Given the description of an element on the screen output the (x, y) to click on. 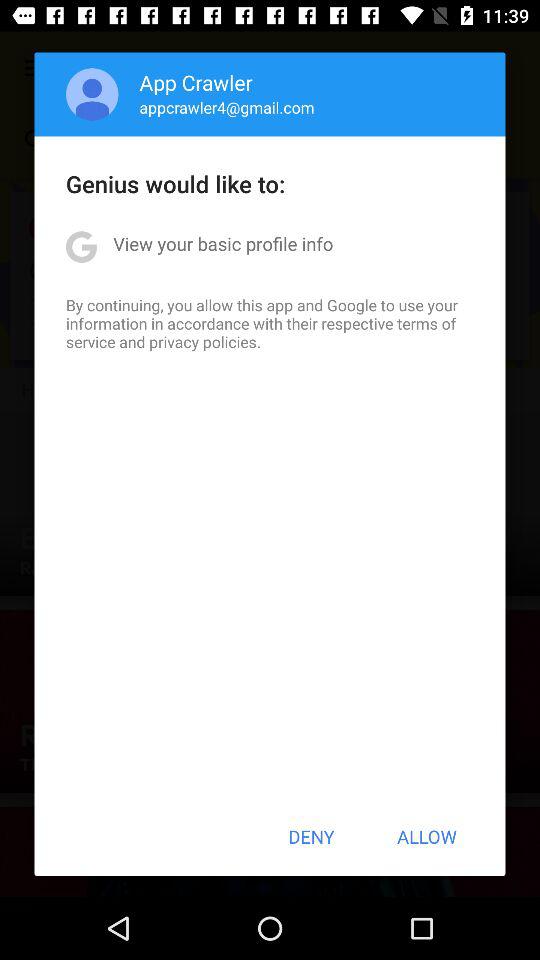
flip to the appcrawler4@gmail.com icon (226, 107)
